Given the description of an element on the screen output the (x, y) to click on. 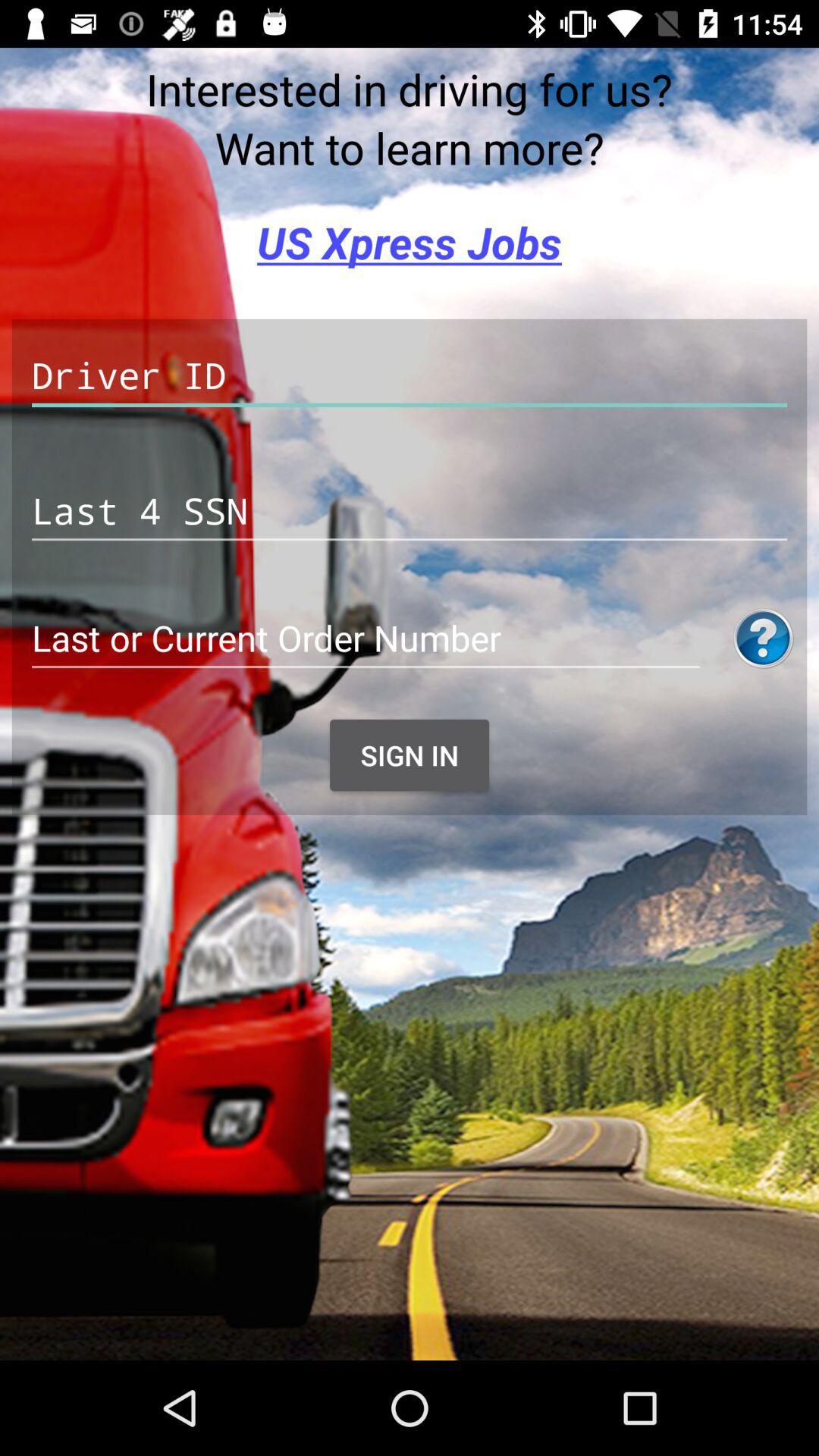
enter ssn (409, 511)
